Given the description of an element on the screen output the (x, y) to click on. 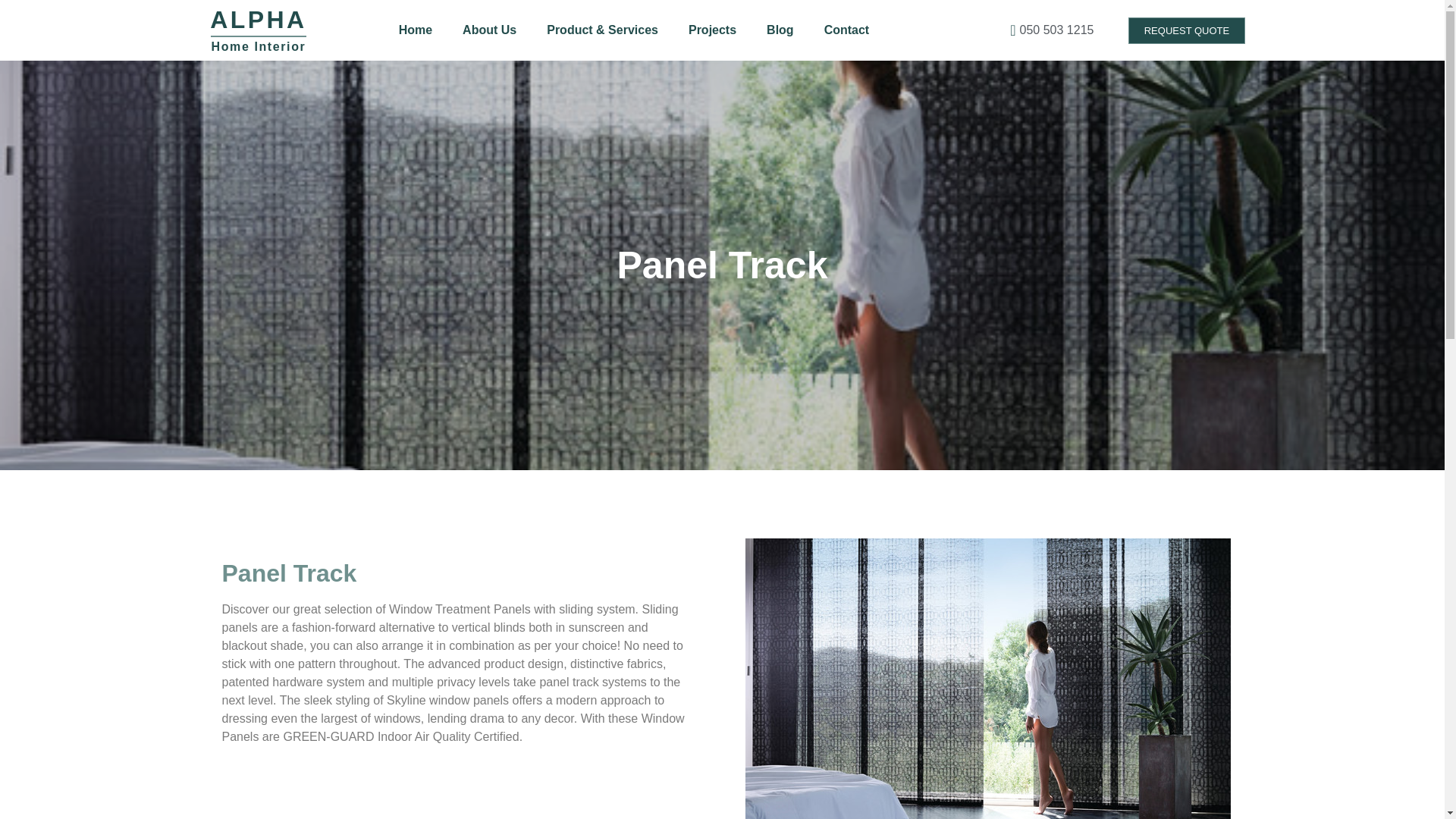
Home (415, 30)
Projects (711, 30)
Home Interior (258, 46)
Contact (847, 30)
Blog (780, 30)
About Us (488, 30)
ALPHA (257, 19)
